Given the description of an element on the screen output the (x, y) to click on. 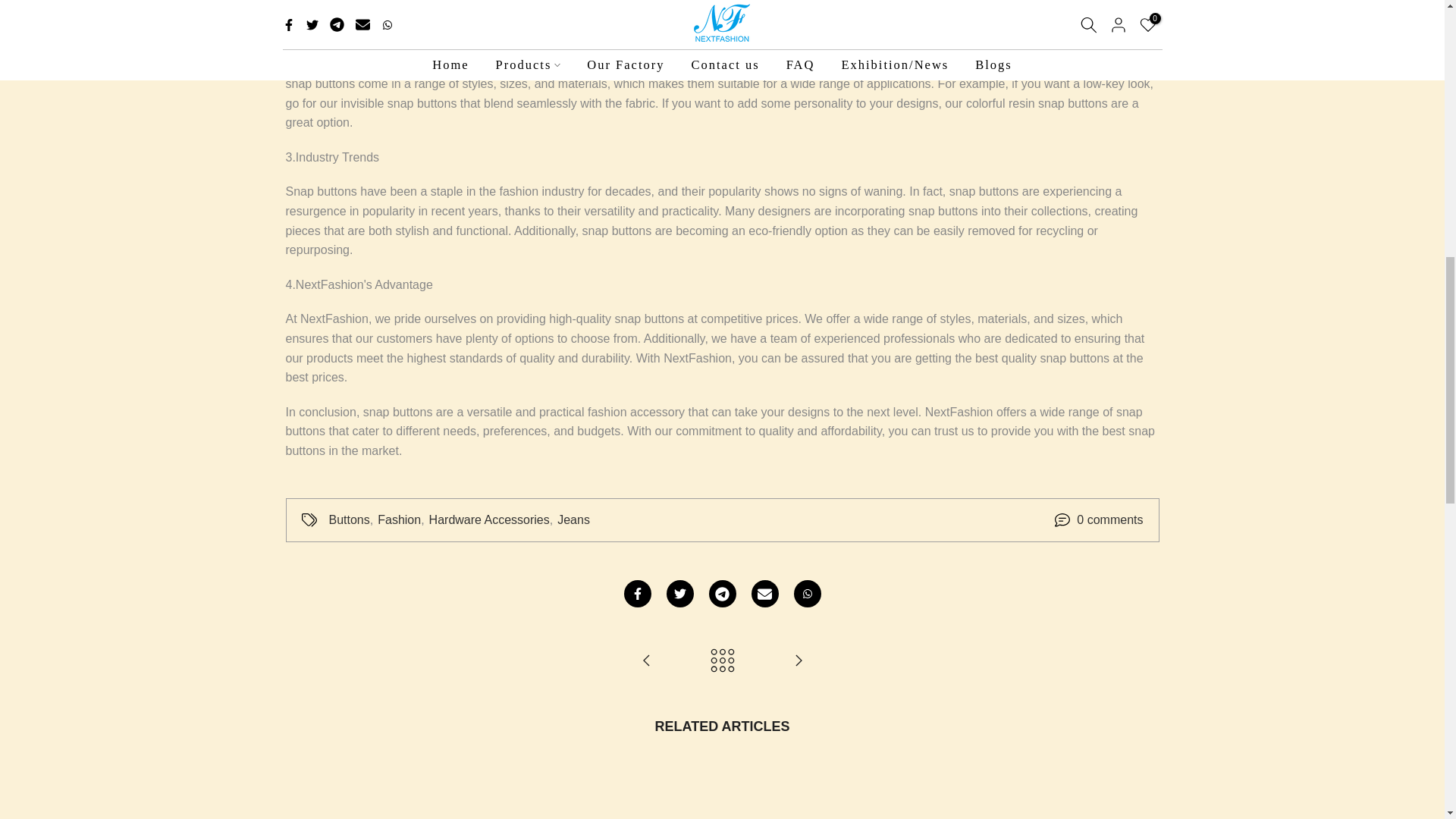
Share on Twitter (679, 593)
Share on Email (764, 593)
Share on Facebook (636, 593)
Share on Telegram (721, 593)
Back to news (722, 661)
Share on WhatsApp (807, 593)
